Given the description of an element on the screen output the (x, y) to click on. 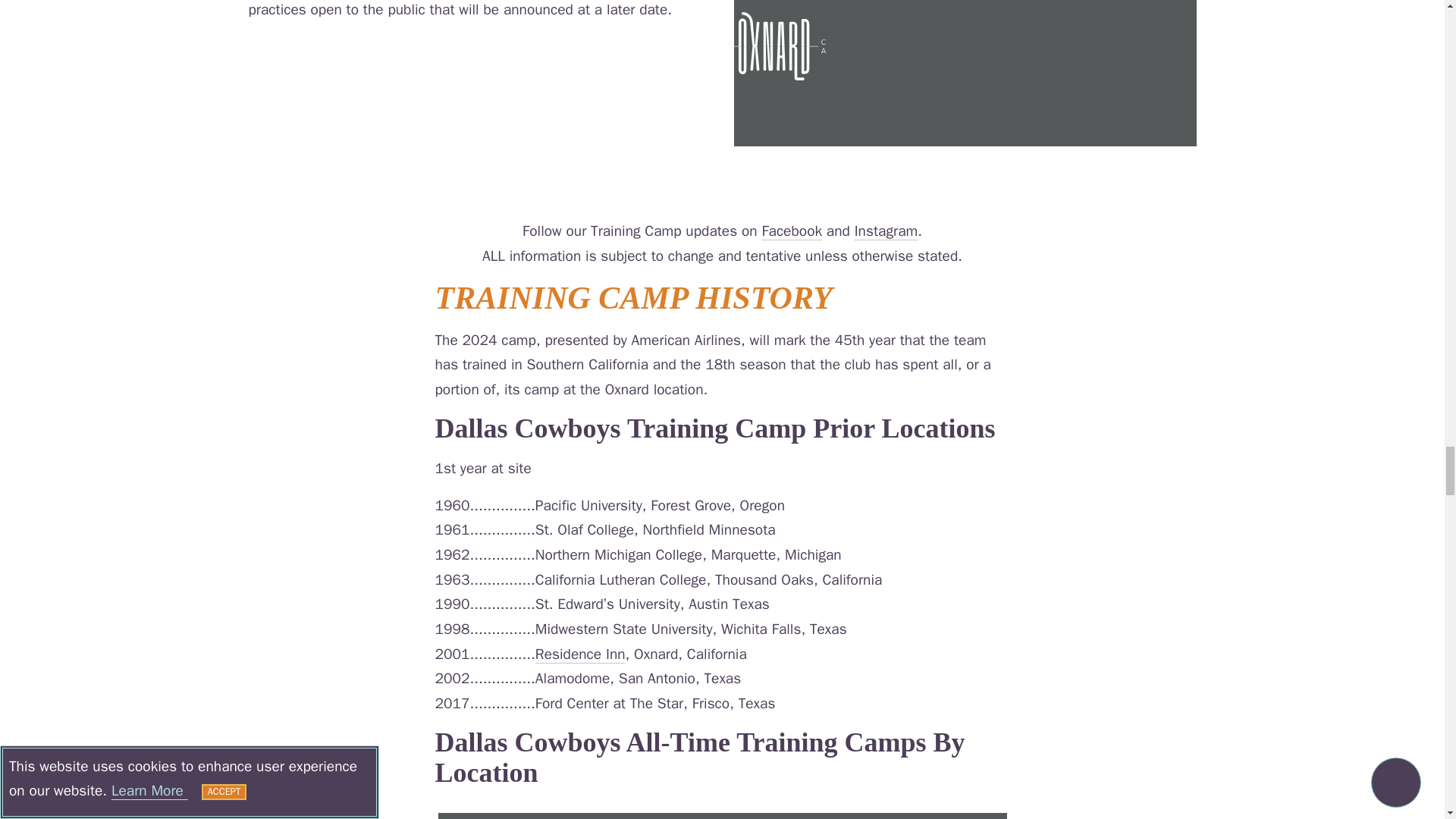
Instagram (886, 230)
Facebook (791, 230)
Residence Inn (580, 653)
